Given the description of an element on the screen output the (x, y) to click on. 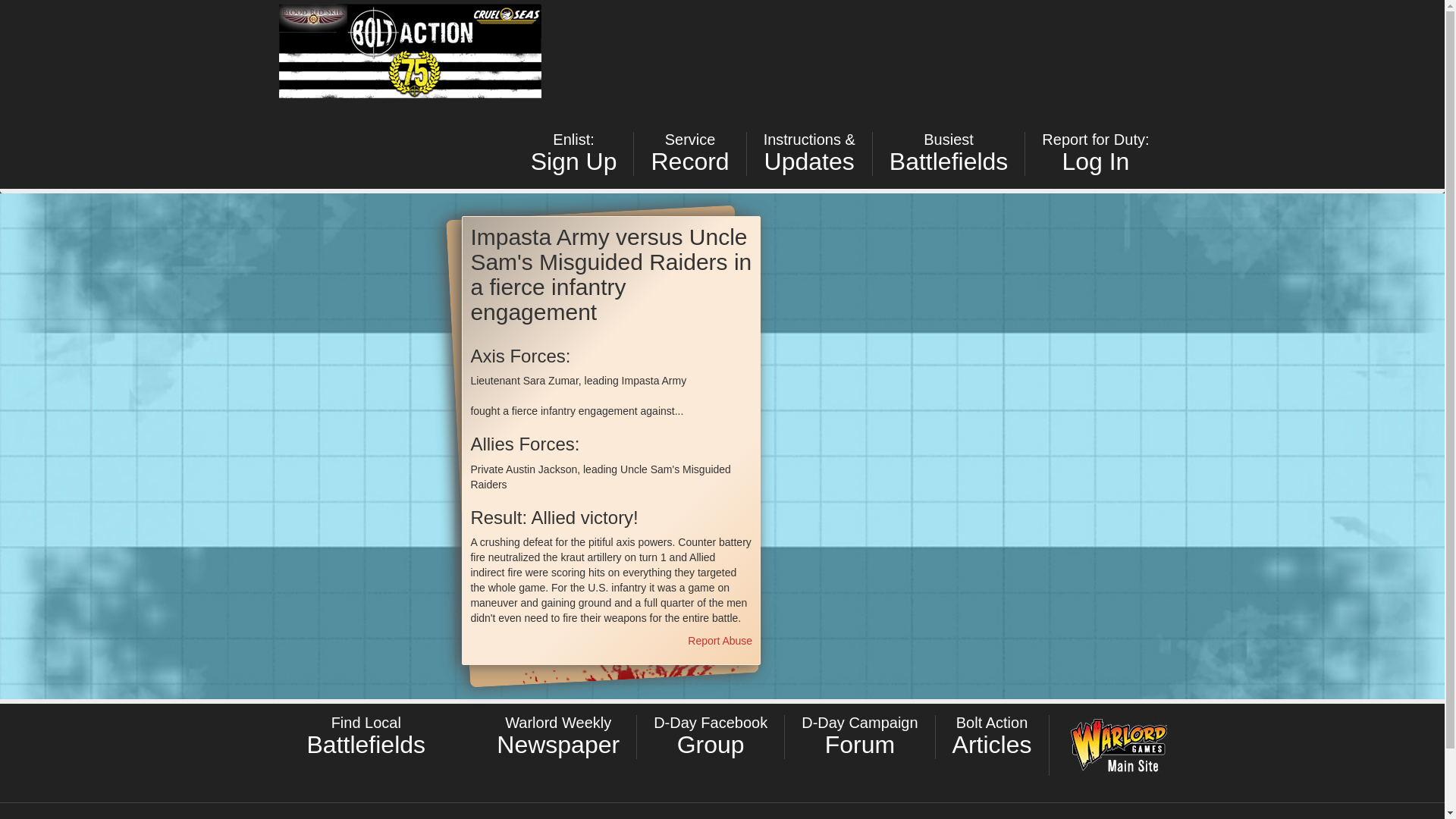
Report Abuse (719, 640)
D-Day Campaign - Home Page (1095, 153)
